Given the description of an element on the screen output the (x, y) to click on. 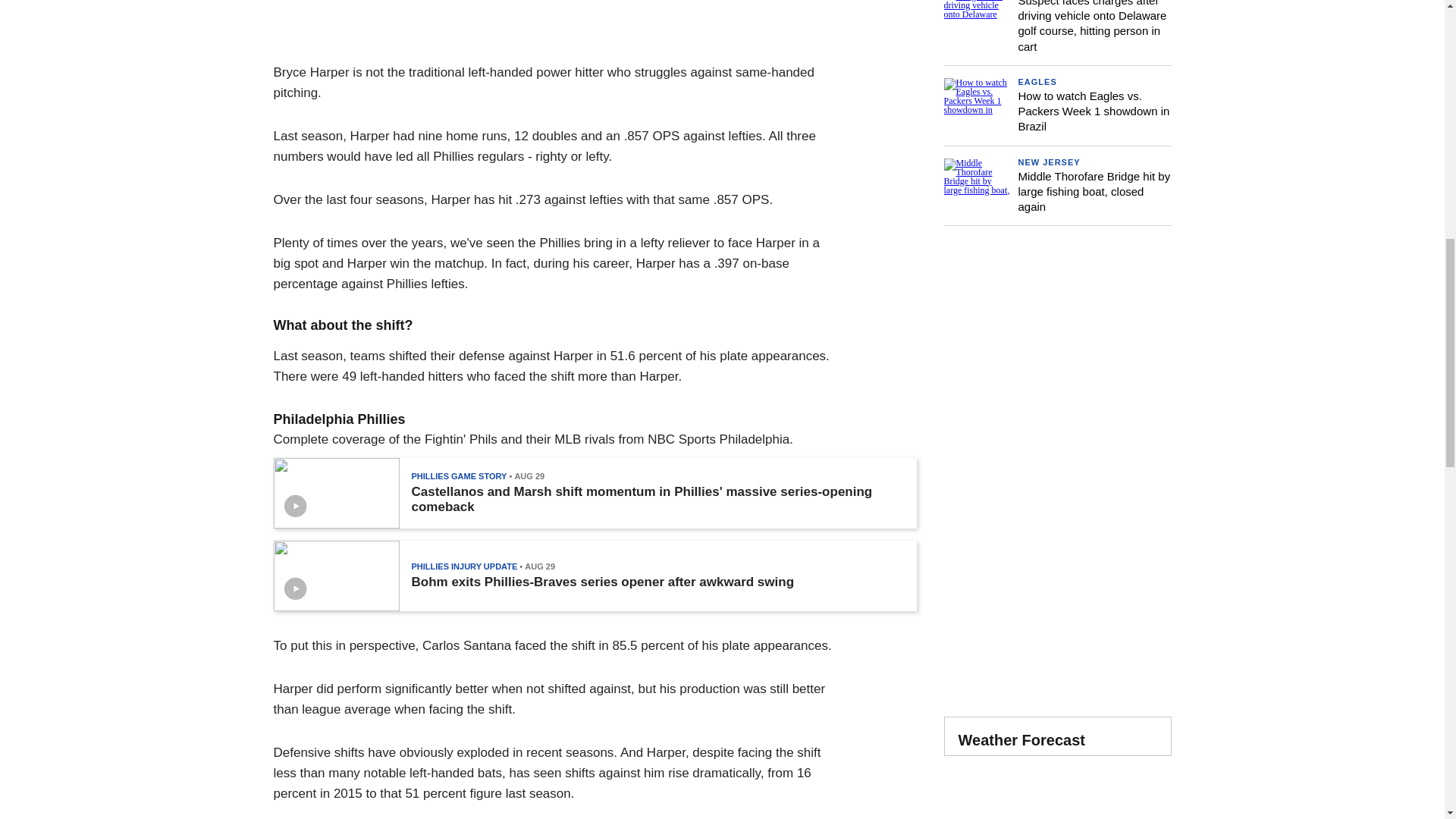
Bohm exits Phillies-Braves series opener after awkward swing (601, 581)
PHILLIES INJURY UPDATE (463, 565)
PHILLIES GAME STORY (458, 475)
